Given the description of an element on the screen output the (x, y) to click on. 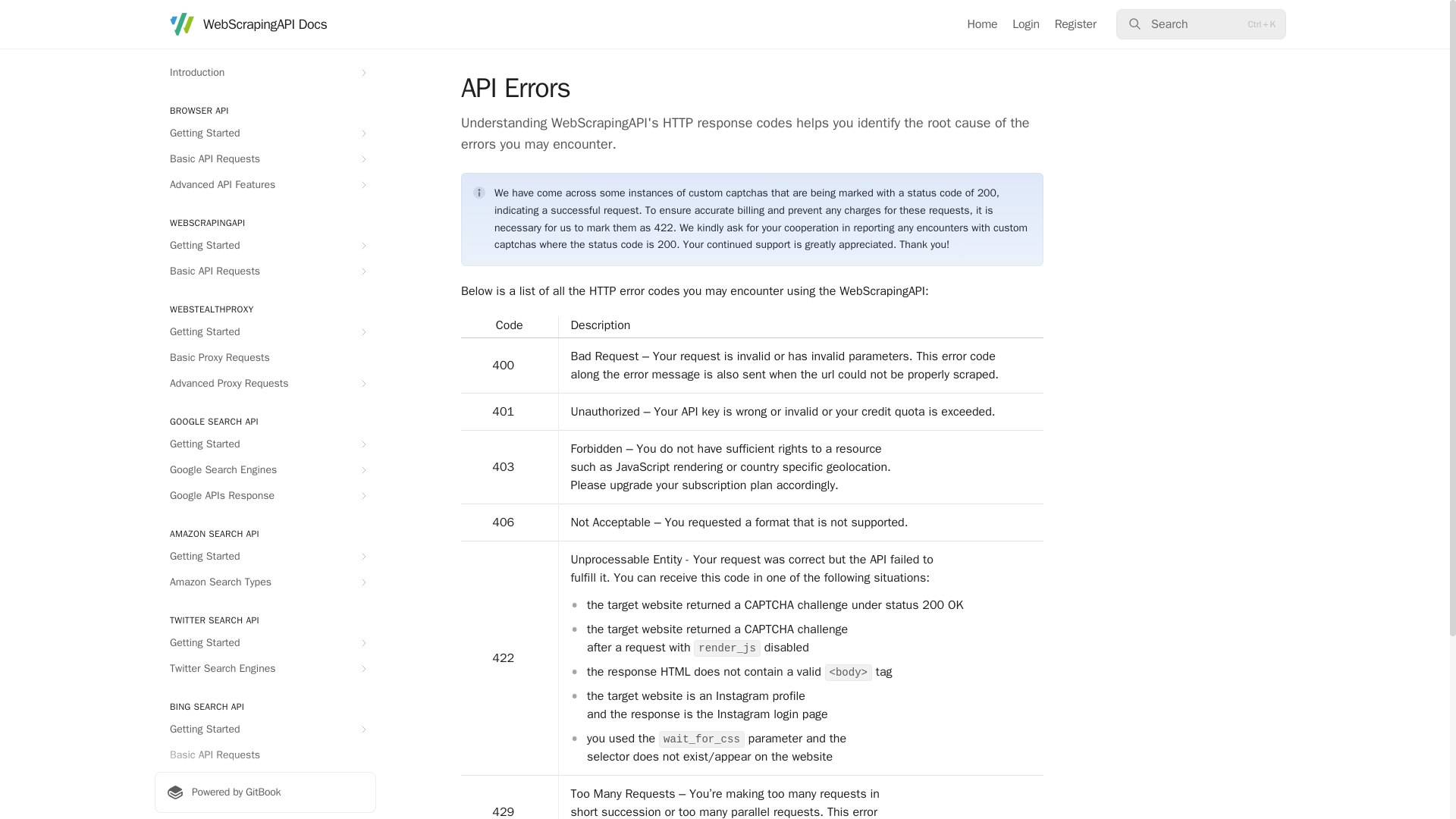
Advanced API Features (264, 184)
WebScrapingAPI Docs (248, 24)
Introduction (264, 72)
Getting Started (264, 133)
Basic API Requests (264, 159)
